Given the description of an element on the screen output the (x, y) to click on. 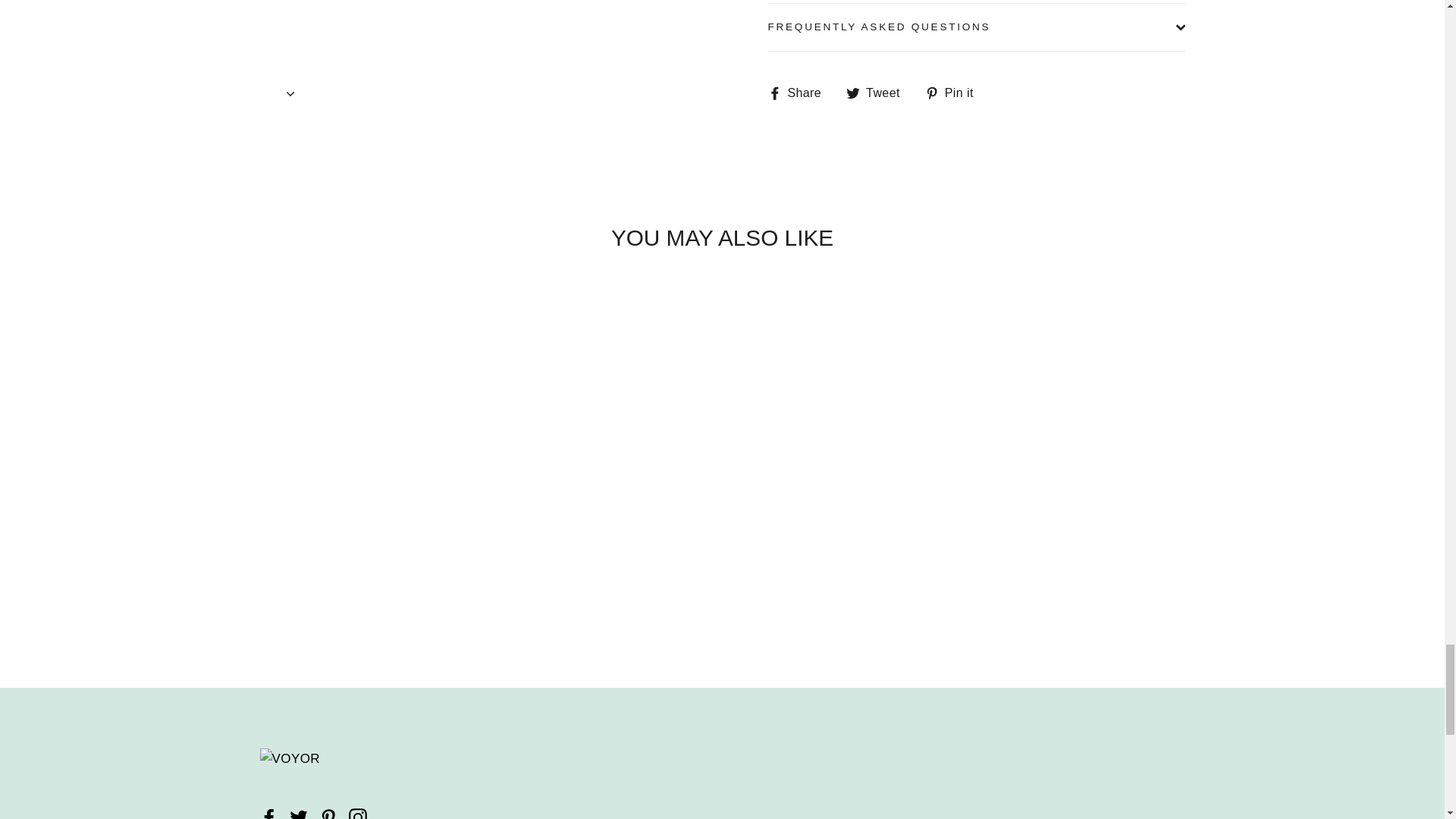
VOYOR on Facebook (268, 812)
Tweet on Twitter (878, 92)
Pin on Pinterest (954, 92)
VOYOR on Pinterest (327, 812)
Share on Facebook (799, 92)
VOYOR on Twitter (298, 812)
VOYOR on Instagram (357, 812)
